Given the description of an element on the screen output the (x, y) to click on. 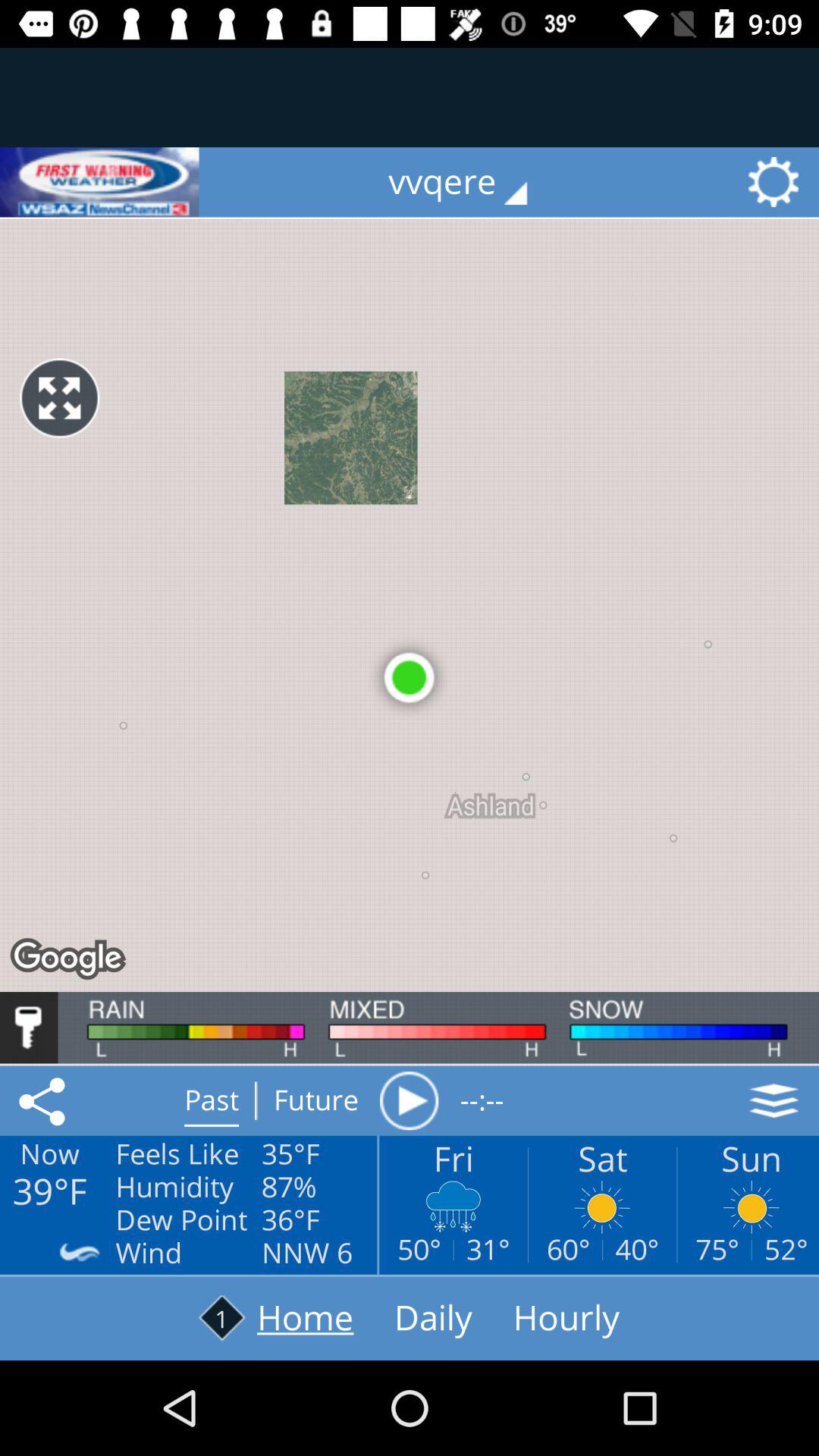
go to key (29, 1027)
